Given the description of an element on the screen output the (x, y) to click on. 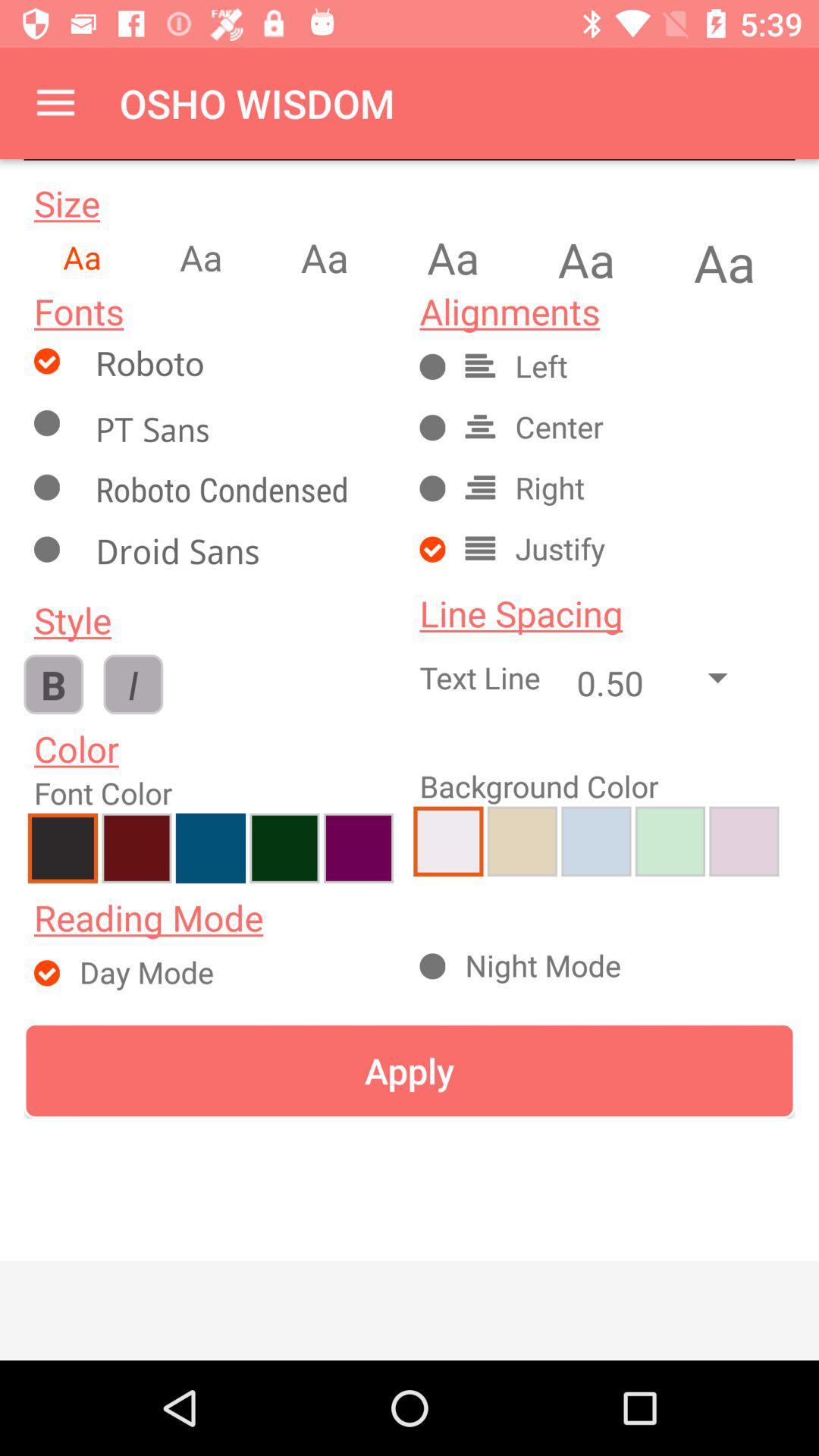
select pt sans font (239, 429)
